Given the description of an element on the screen output the (x, y) to click on. 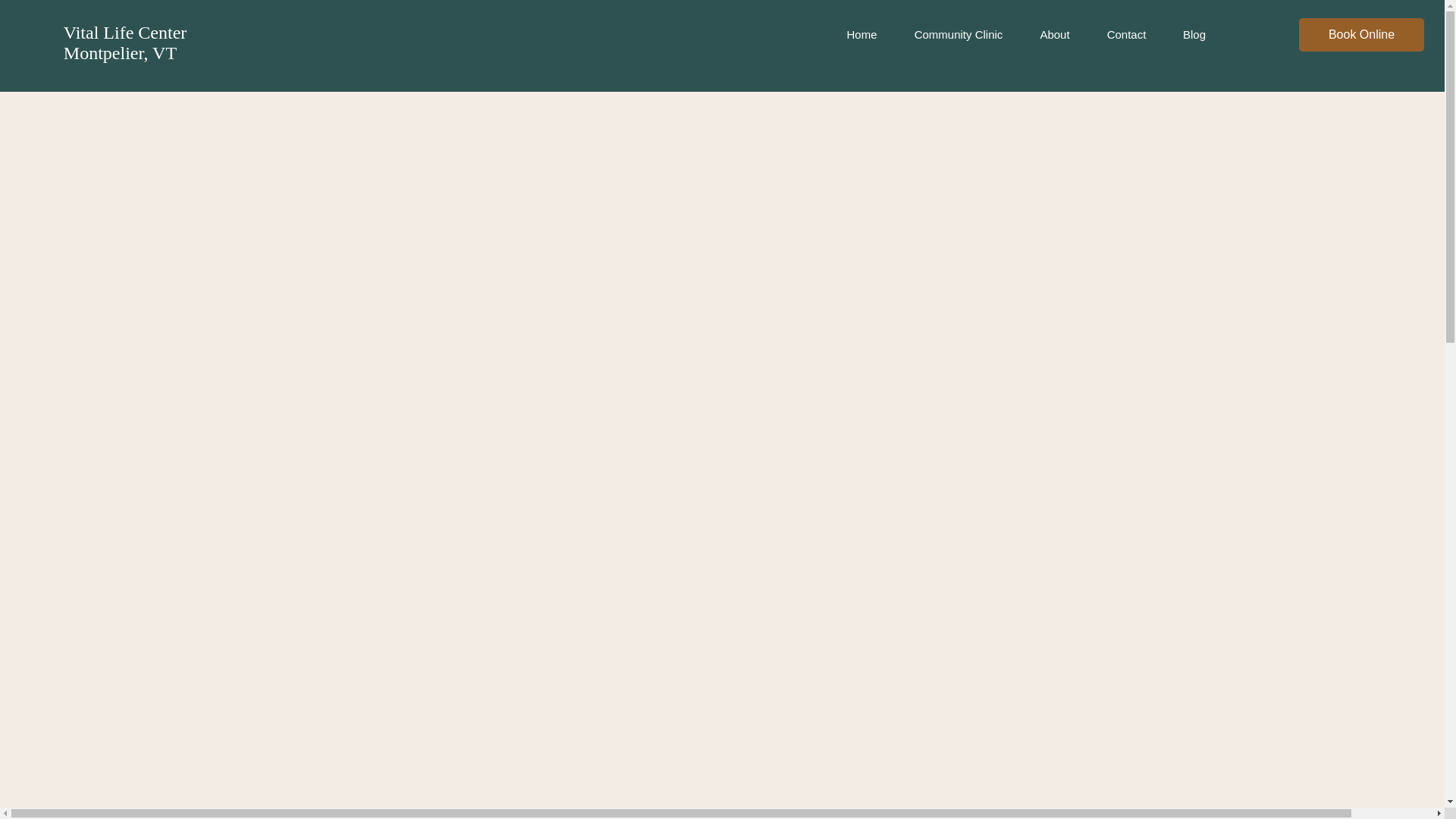
Home Element type: text (861, 34)
Vital Life Center Element type: text (125, 32)
About Element type: text (1054, 34)
Book Online Element type: text (1361, 34)
Community Clinic Element type: text (958, 34)
Blog Element type: text (1193, 34)
Contact Element type: text (1126, 34)
